Given the description of an element on the screen output the (x, y) to click on. 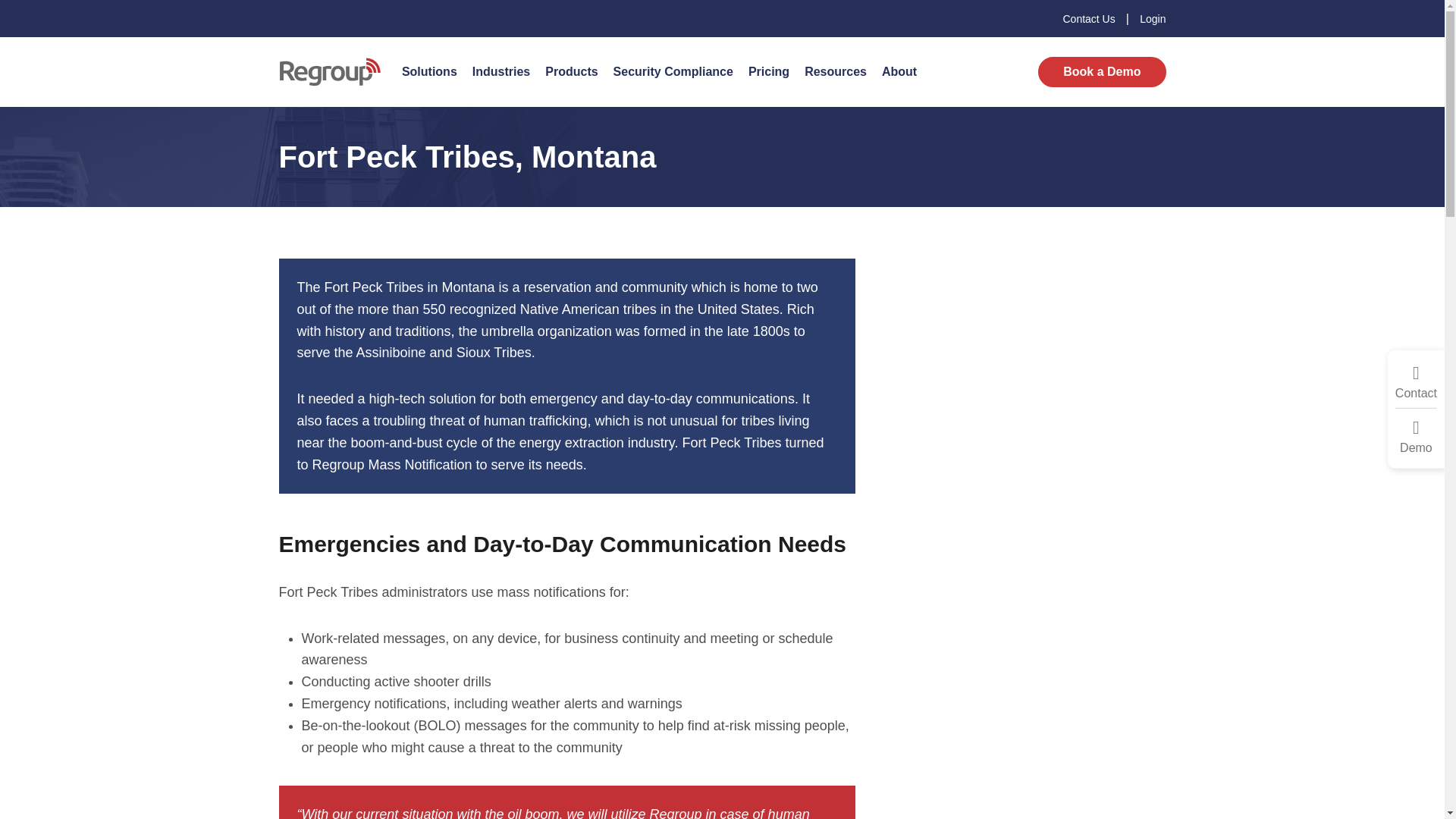
Products (571, 71)
Resources (835, 71)
Contact (1415, 381)
Contact Us (1090, 18)
Pricing (768, 71)
Login (1153, 18)
Industries (500, 71)
Book a Demo (1102, 71)
Security Compliance (673, 71)
Demo (1415, 436)
About (899, 71)
Solutions (429, 71)
